Given the description of an element on the screen output the (x, y) to click on. 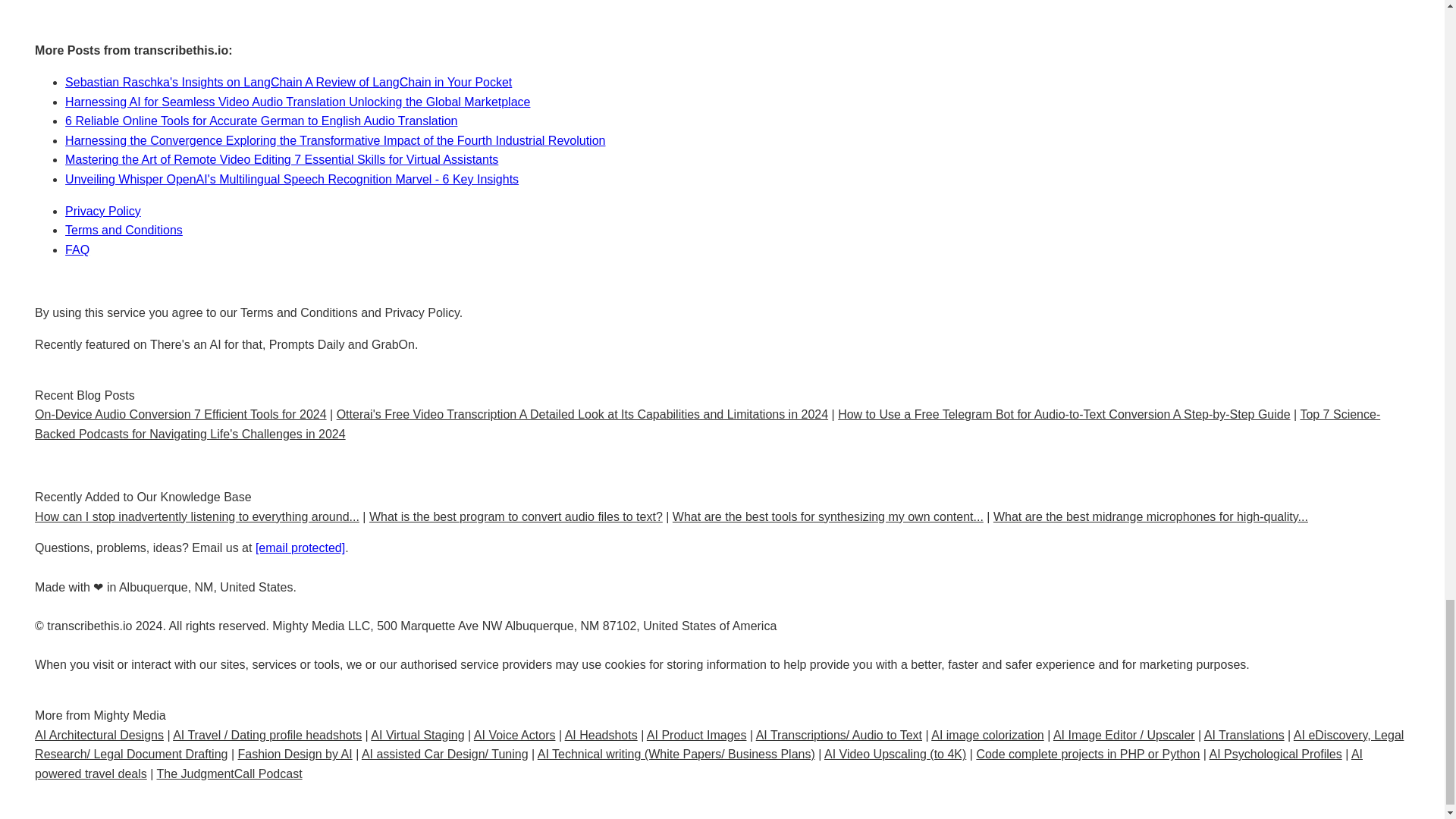
FAQ (76, 249)
AI Psychological Profiles (1275, 753)
AI Product Images (696, 735)
AI Architectural Designs (98, 735)
AI powered travel deals (698, 763)
AI Headshots (600, 735)
AI image colorization (987, 735)
What are the best tools for synthesizing my own content... (828, 516)
Fashion Design by AI (295, 753)
